Given the description of an element on the screen output the (x, y) to click on. 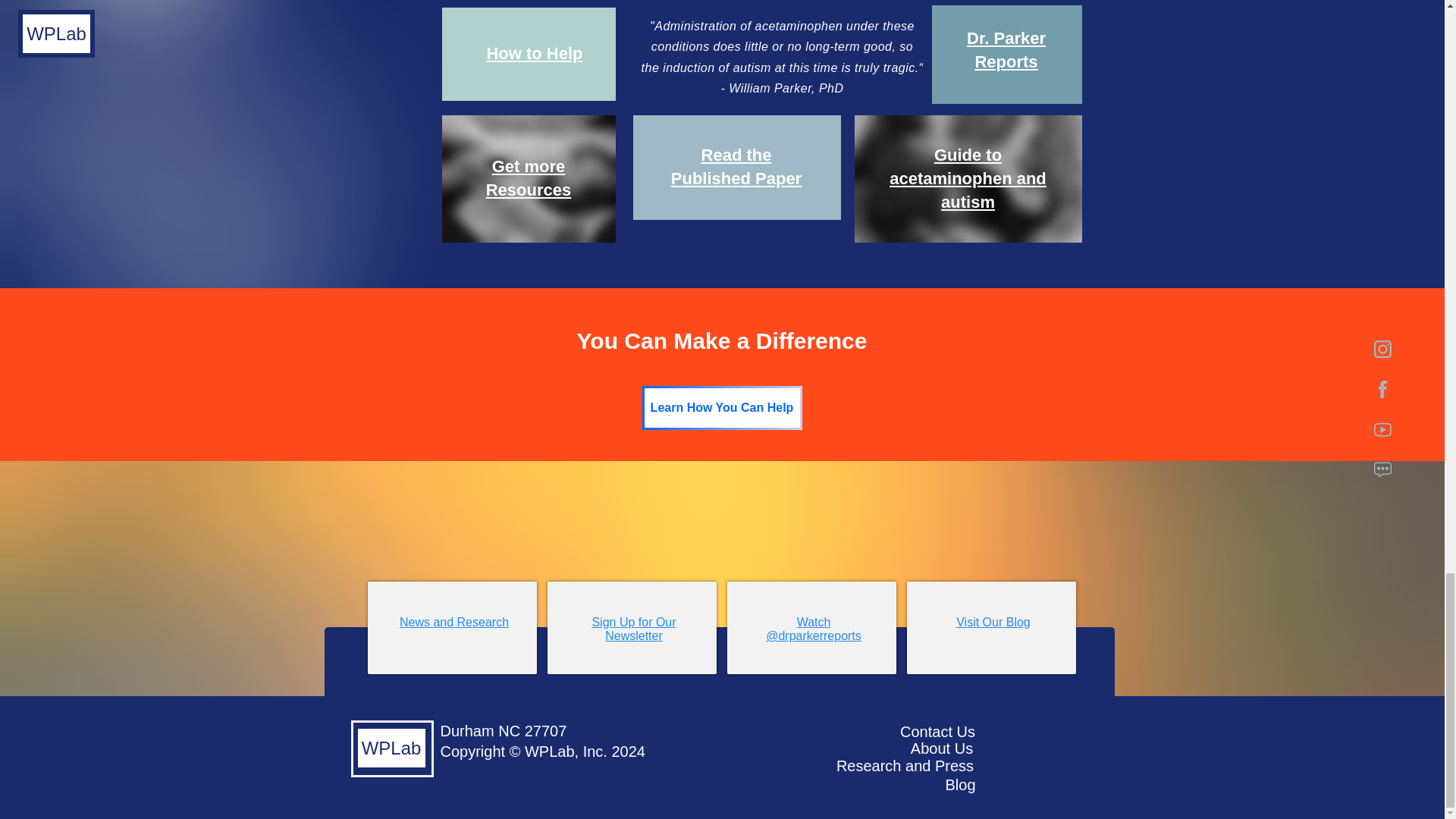
How to Help (534, 53)
Dr. Parker Reports (1005, 49)
Read the Published Paper (736, 166)
Learn How You Can Help (722, 407)
Get more Resources (529, 178)
Guide to acetaminophen and autism (967, 178)
